Given the description of an element on the screen output the (x, y) to click on. 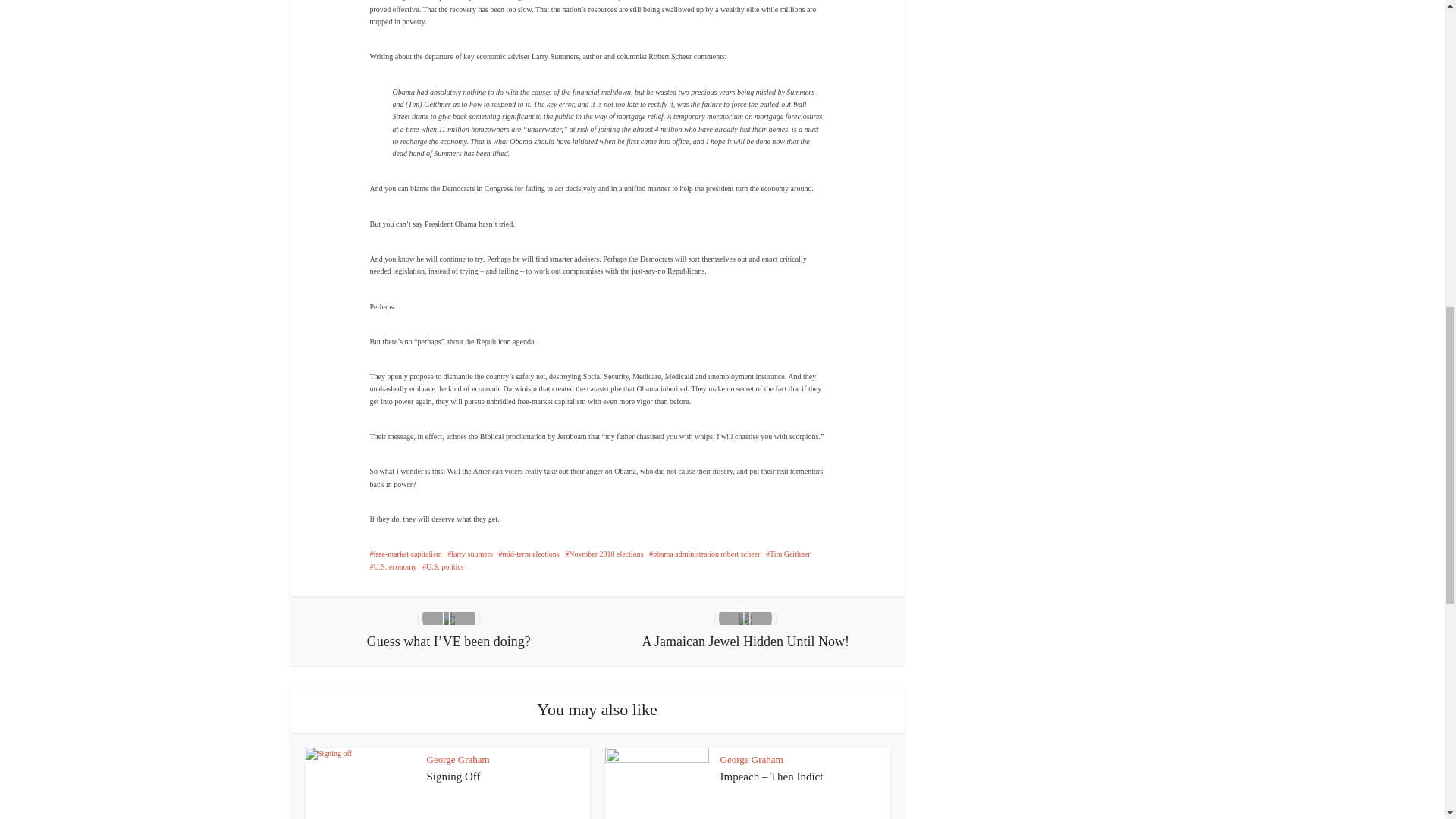
Signing Off (453, 776)
larry suumers (469, 553)
U.S. economy (392, 566)
George Graham (457, 758)
Signing Off (453, 776)
obama administration robert scheer (704, 553)
George Graham (751, 758)
U.S. politics (443, 566)
Tim Geithner (787, 553)
A Jamaican Jewel Hidden Until Now! (745, 630)
mid-term elections (528, 553)
Novmber 2010 elections (603, 553)
free-market capitalism (405, 553)
